Given the description of an element on the screen output the (x, y) to click on. 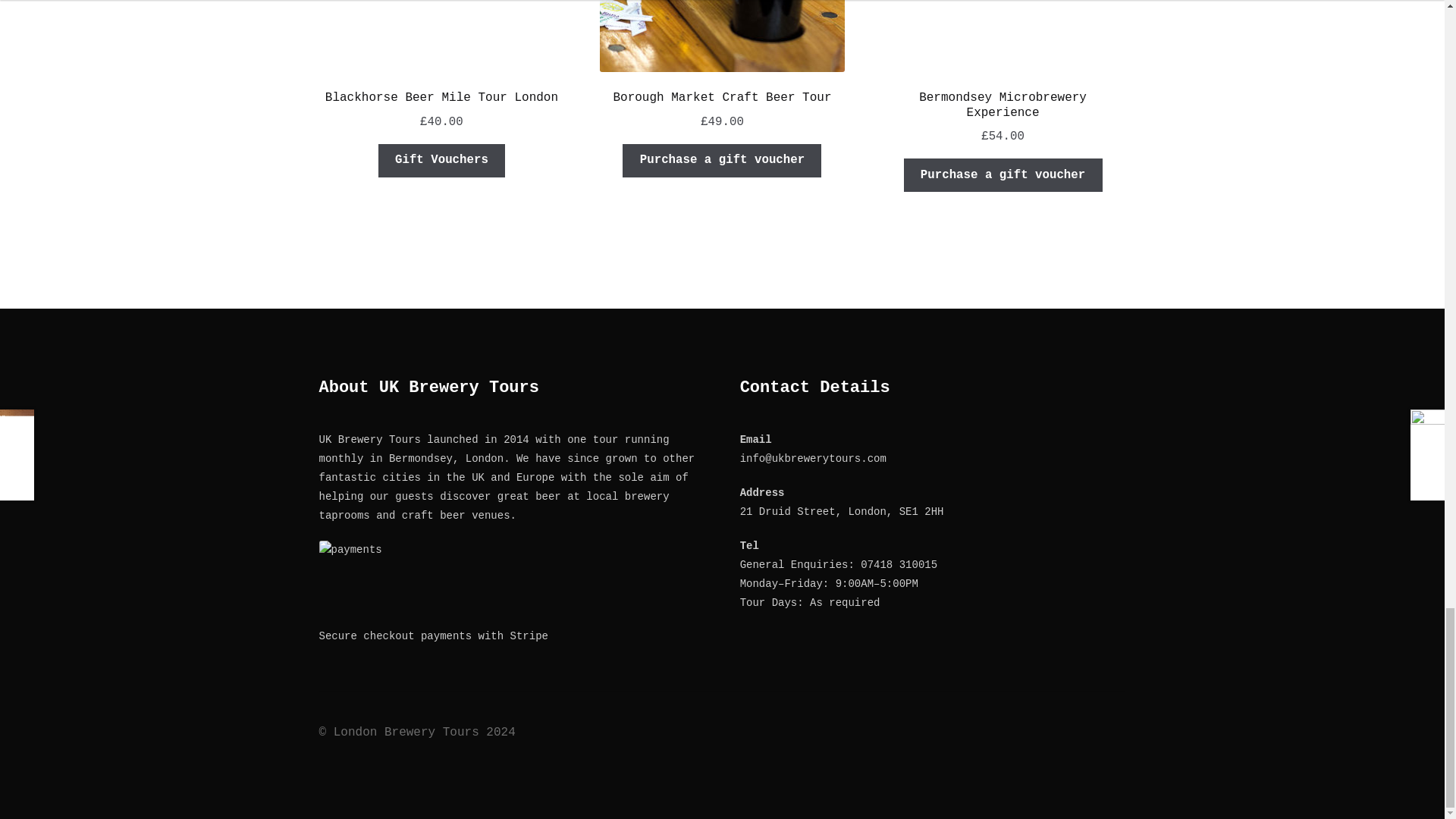
Gift Vouchers (441, 160)
Purchase a gift voucher (1003, 174)
Purchase a gift voucher (722, 160)
